Given the description of an element on the screen output the (x, y) to click on. 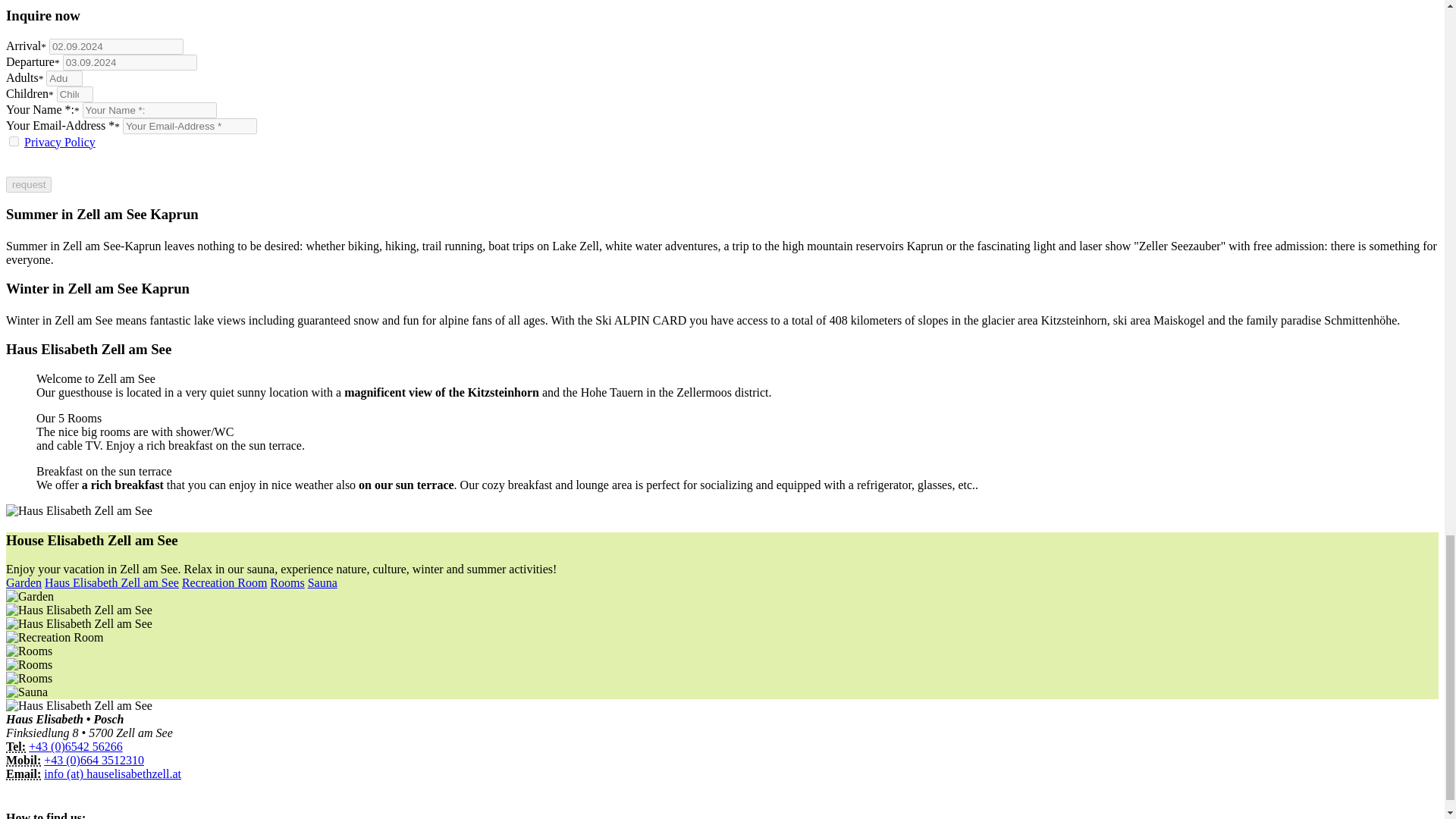
Phone Number (15, 746)
Garden (23, 582)
Recreation Room (224, 582)
Privacy Policy (60, 141)
Rooms (286, 582)
Phone Number (22, 759)
dsgvo1 (13, 141)
Email Address (22, 773)
Sauna (322, 582)
Haus Elisabeth Zell am See (112, 582)
